Given the description of an element on the screen output the (x, y) to click on. 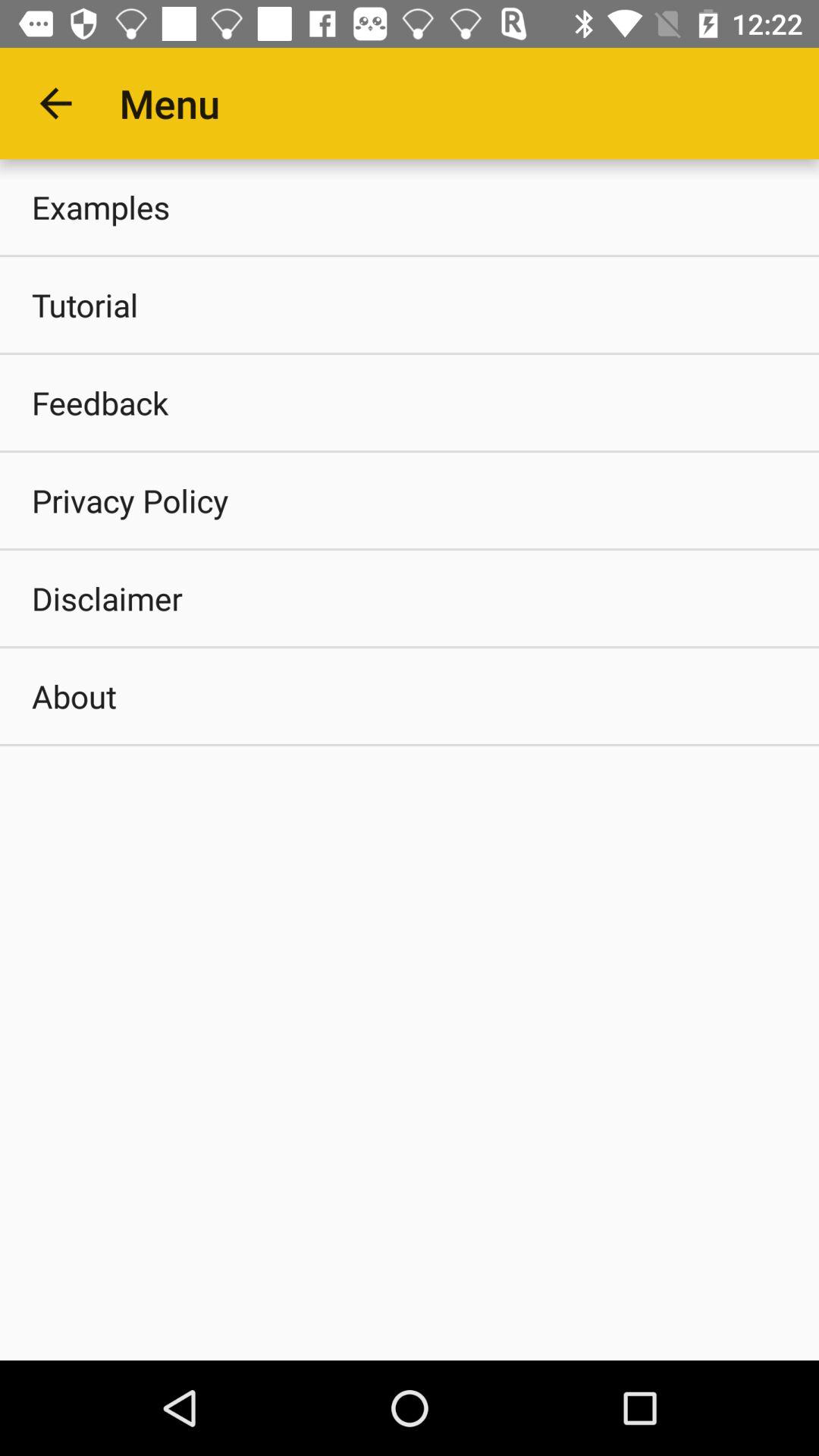
launch the disclaimer (409, 598)
